Given the description of an element on the screen output the (x, y) to click on. 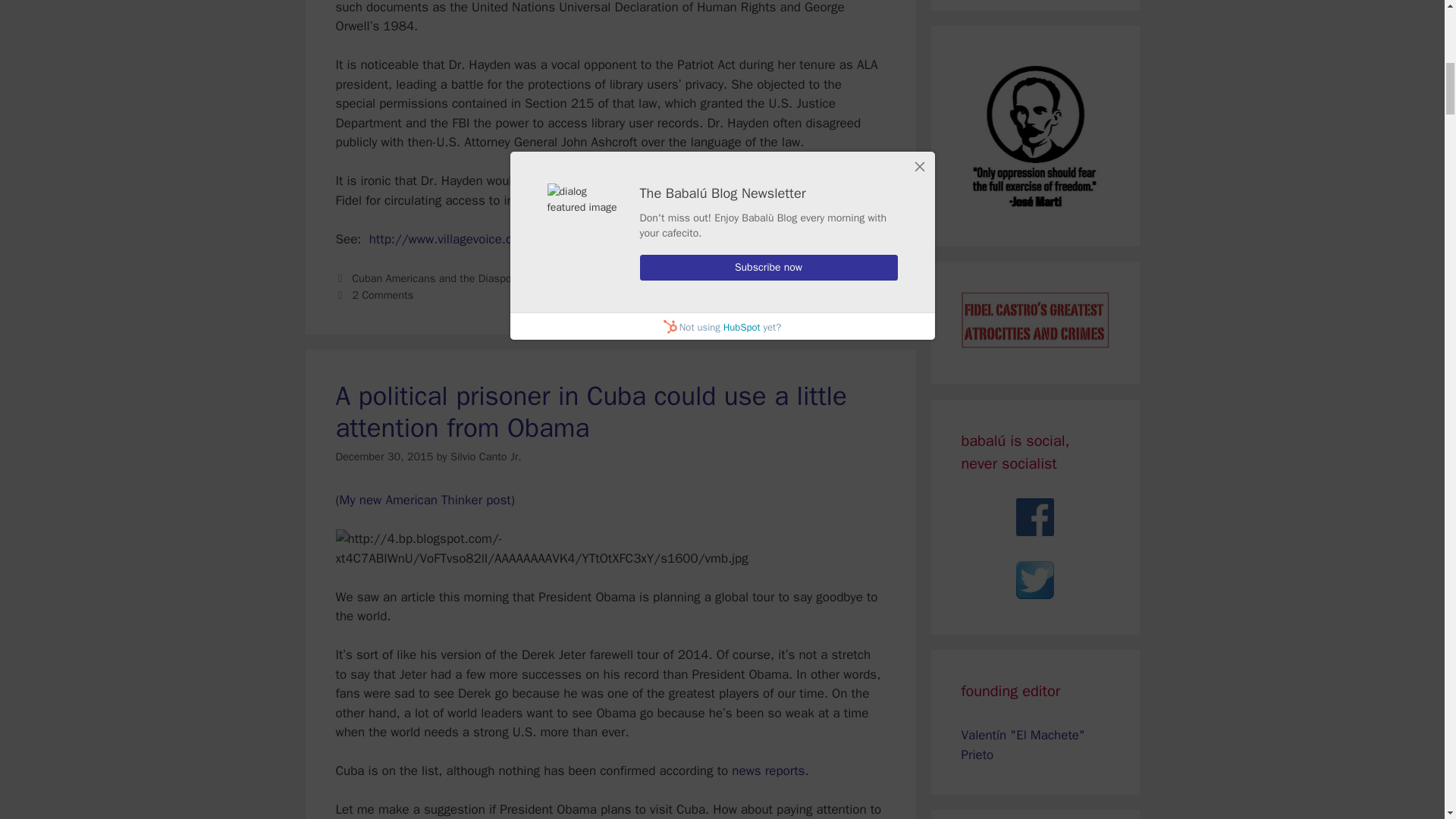
Cuban Americans and the Diaspora (436, 278)
Political Prisoners (729, 278)
U.S. Politics (806, 278)
Obama Watch (645, 278)
No tiene nombre (567, 278)
news reports (768, 770)
My new American Thinker post (425, 499)
View all posts by Silvio Canto Jr. (485, 456)
Silvio Canto Jr. (485, 456)
2 Comments (382, 295)
